Given the description of an element on the screen output the (x, y) to click on. 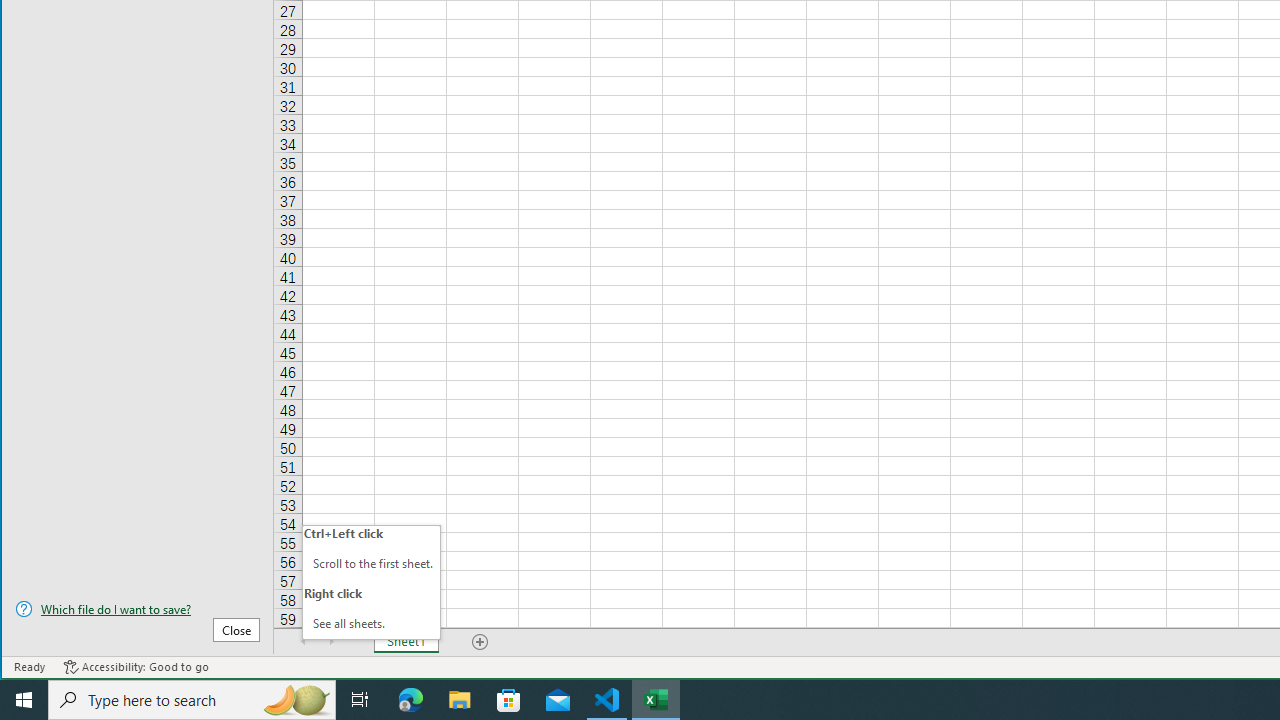
Add Sheet (481, 641)
Search highlights icon opens search home window (295, 699)
Start (24, 699)
Visual Studio Code - 1 running window (607, 699)
Microsoft Store (509, 699)
Microsoft Edge (411, 699)
Scroll Left (303, 641)
Task View (359, 699)
Type here to search (191, 699)
Accessibility Checker Accessibility: Good to go (136, 667)
Scroll Right (331, 641)
Sheet1 (406, 641)
Which file do I want to save? (137, 609)
Excel - 1 running window (656, 699)
